Given the description of an element on the screen output the (x, y) to click on. 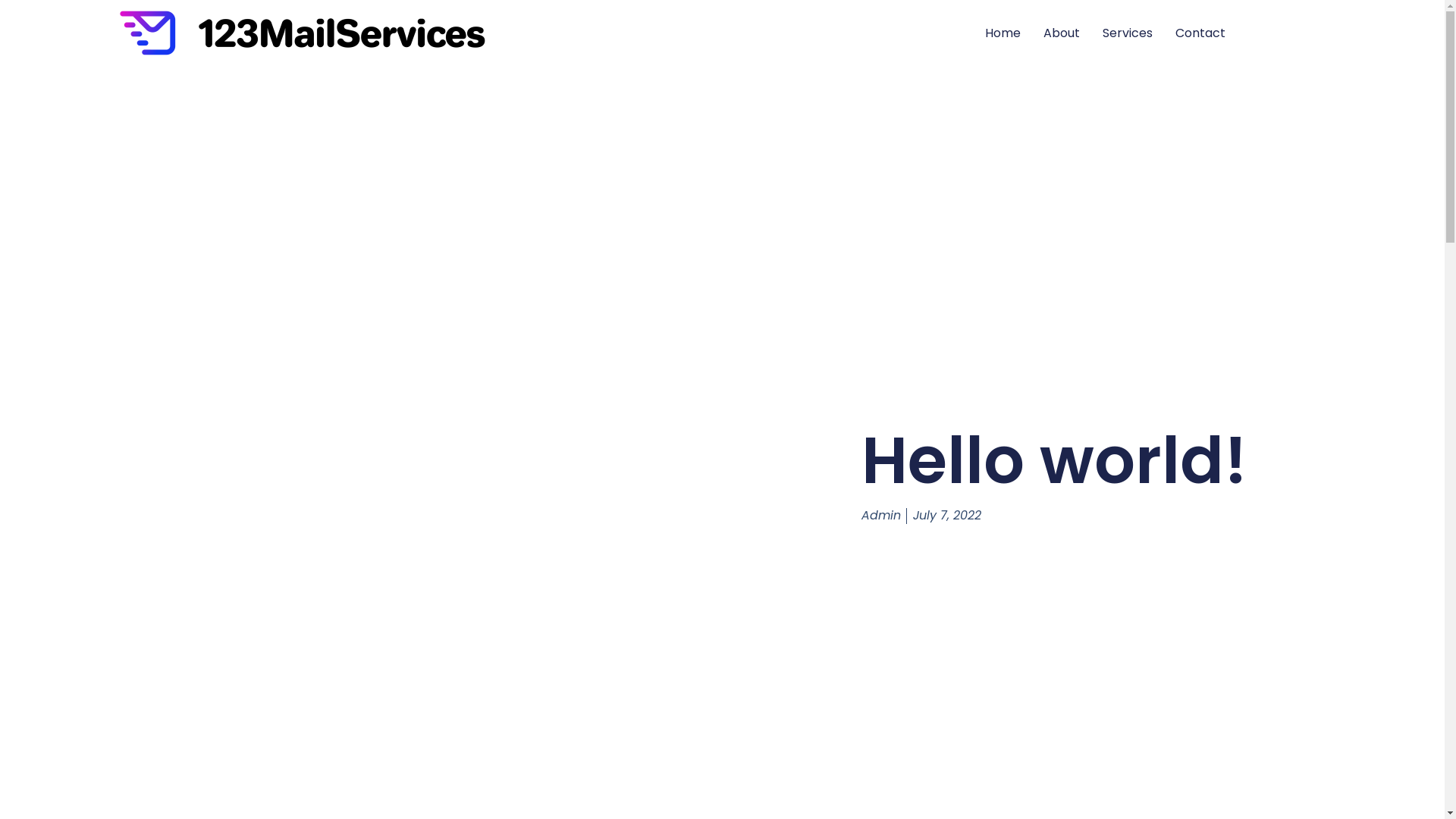
About Element type: text (1061, 33)
Services Element type: text (1127, 33)
Contact Element type: text (1200, 33)
Home Element type: text (1002, 33)
